Given the description of an element on the screen output the (x, y) to click on. 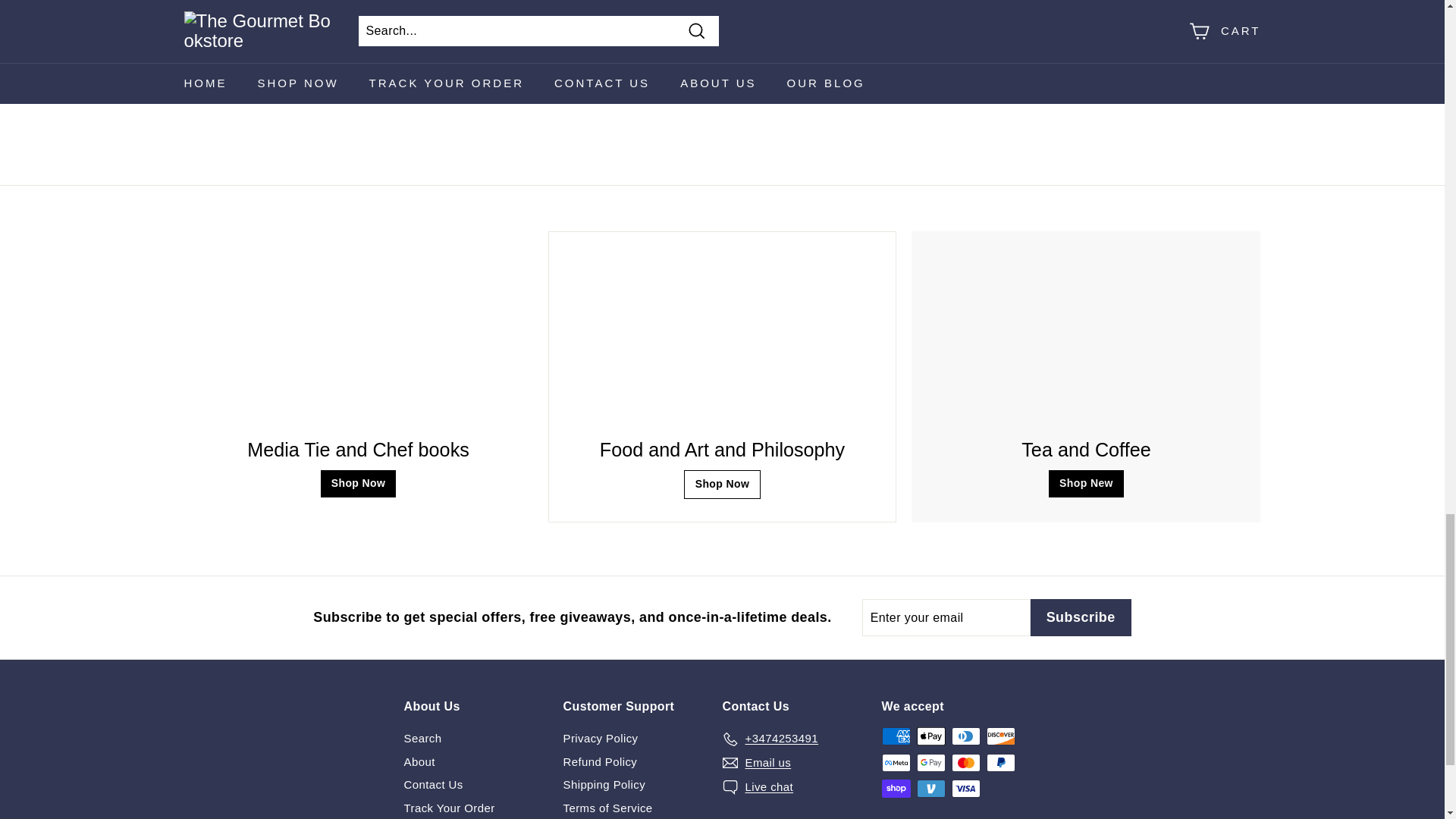
American Express (895, 736)
Apple Pay (929, 736)
Meta Pay (895, 762)
Google Pay (929, 762)
Diners Club (964, 736)
Discover (999, 736)
Mastercard (964, 762)
